Given the description of an element on the screen output the (x, y) to click on. 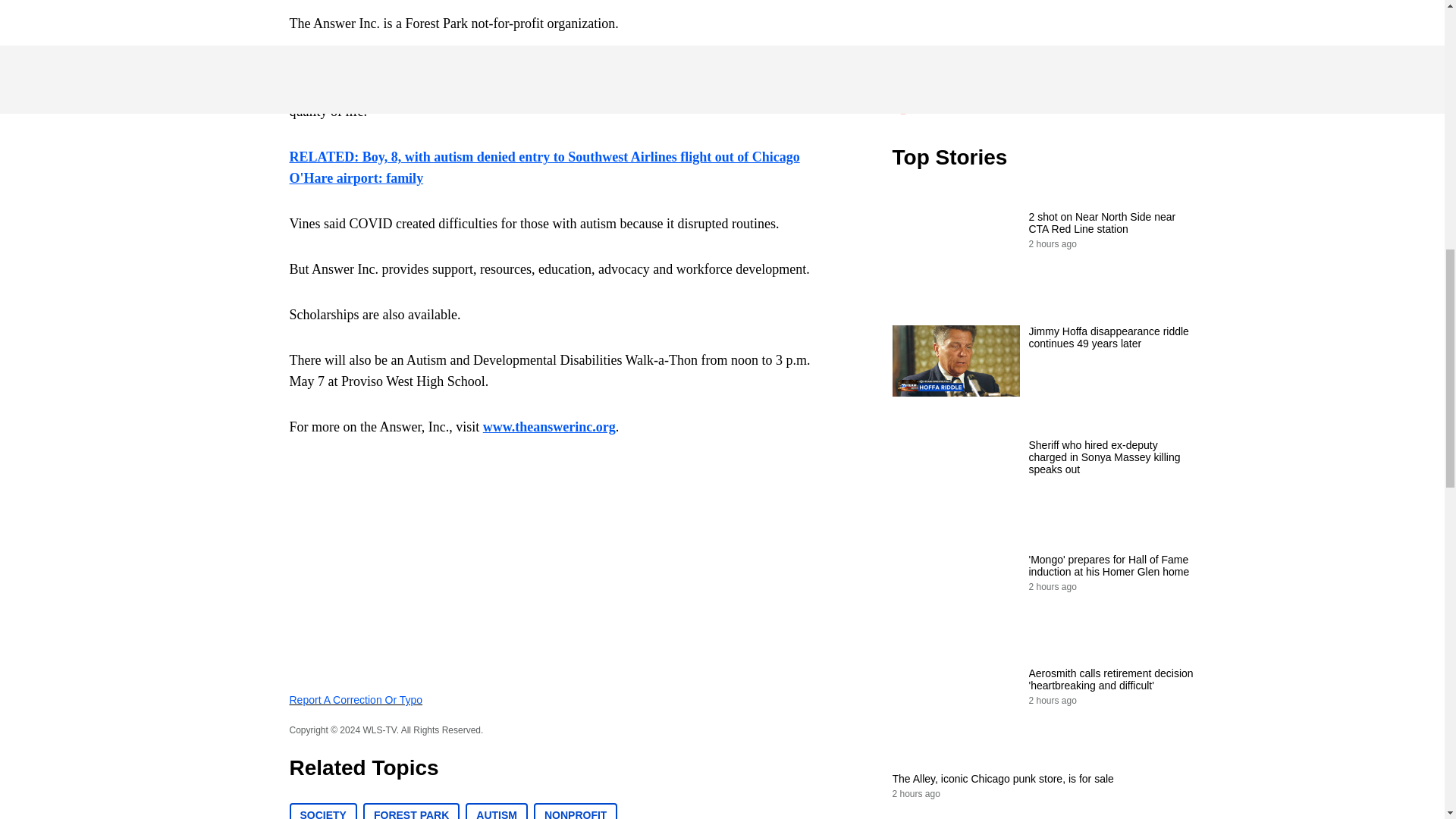
video.title (1043, 48)
